Given the description of an element on the screen output the (x, y) to click on. 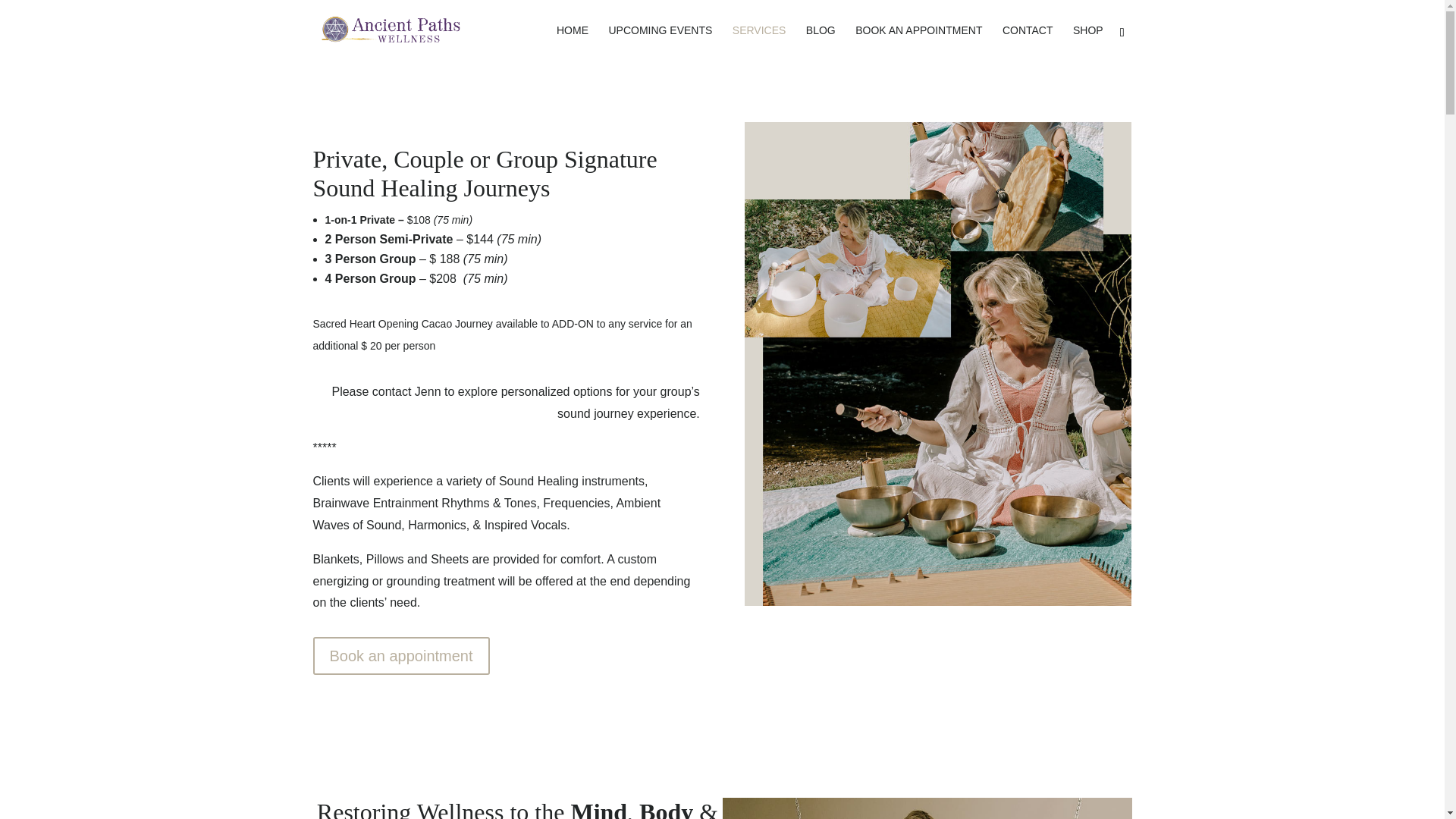
BOOK AN APPOINTMENT (918, 42)
CONTACT (1027, 42)
HOME (572, 42)
Book an appointment (401, 655)
SERVICES (759, 42)
UPCOMING EVENTS (659, 42)
